Given the description of an element on the screen output the (x, y) to click on. 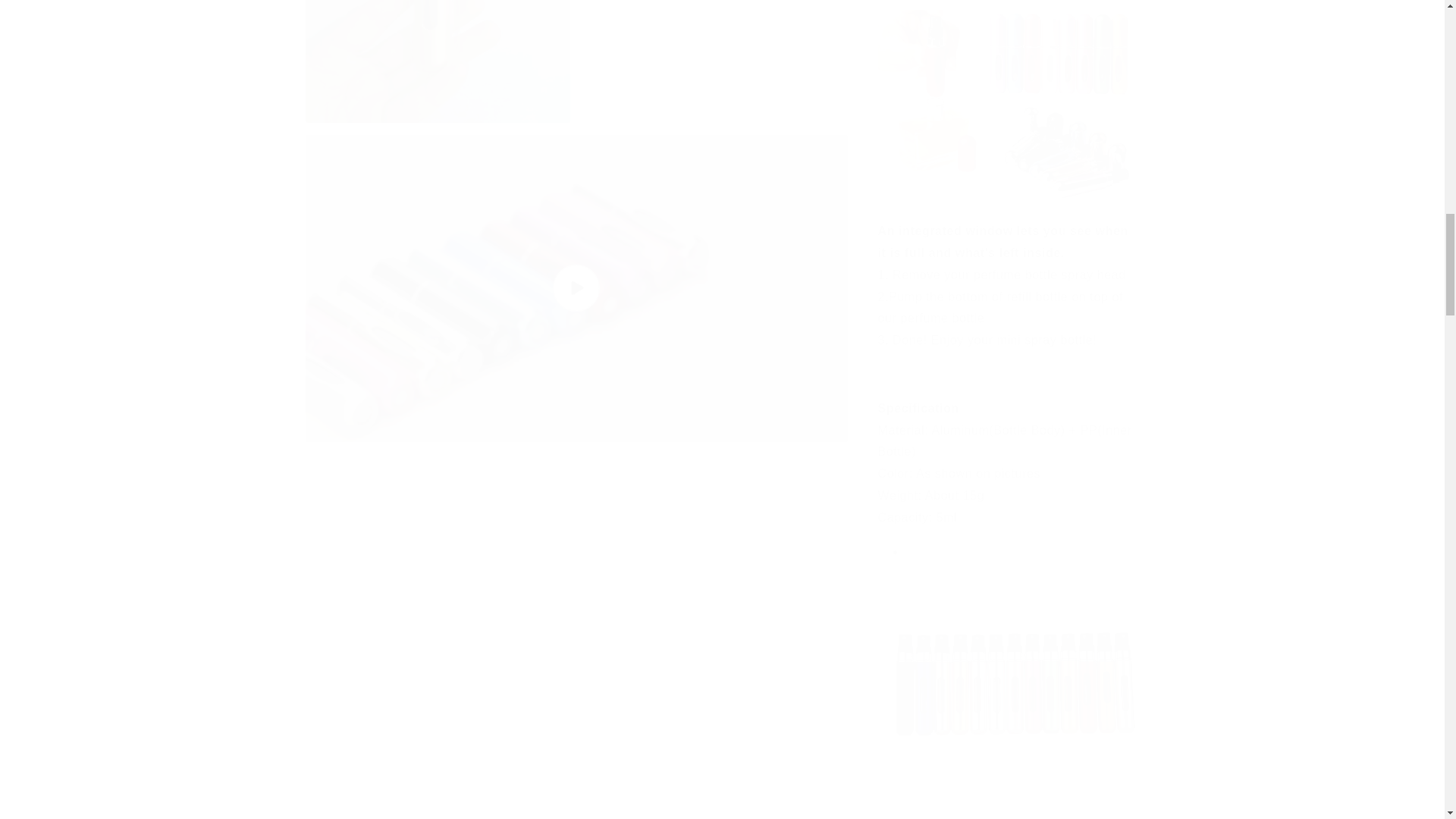
Open media 9 in modal (714, 61)
Open media 8 in modal (437, 61)
